Given the description of an element on the screen output the (x, y) to click on. 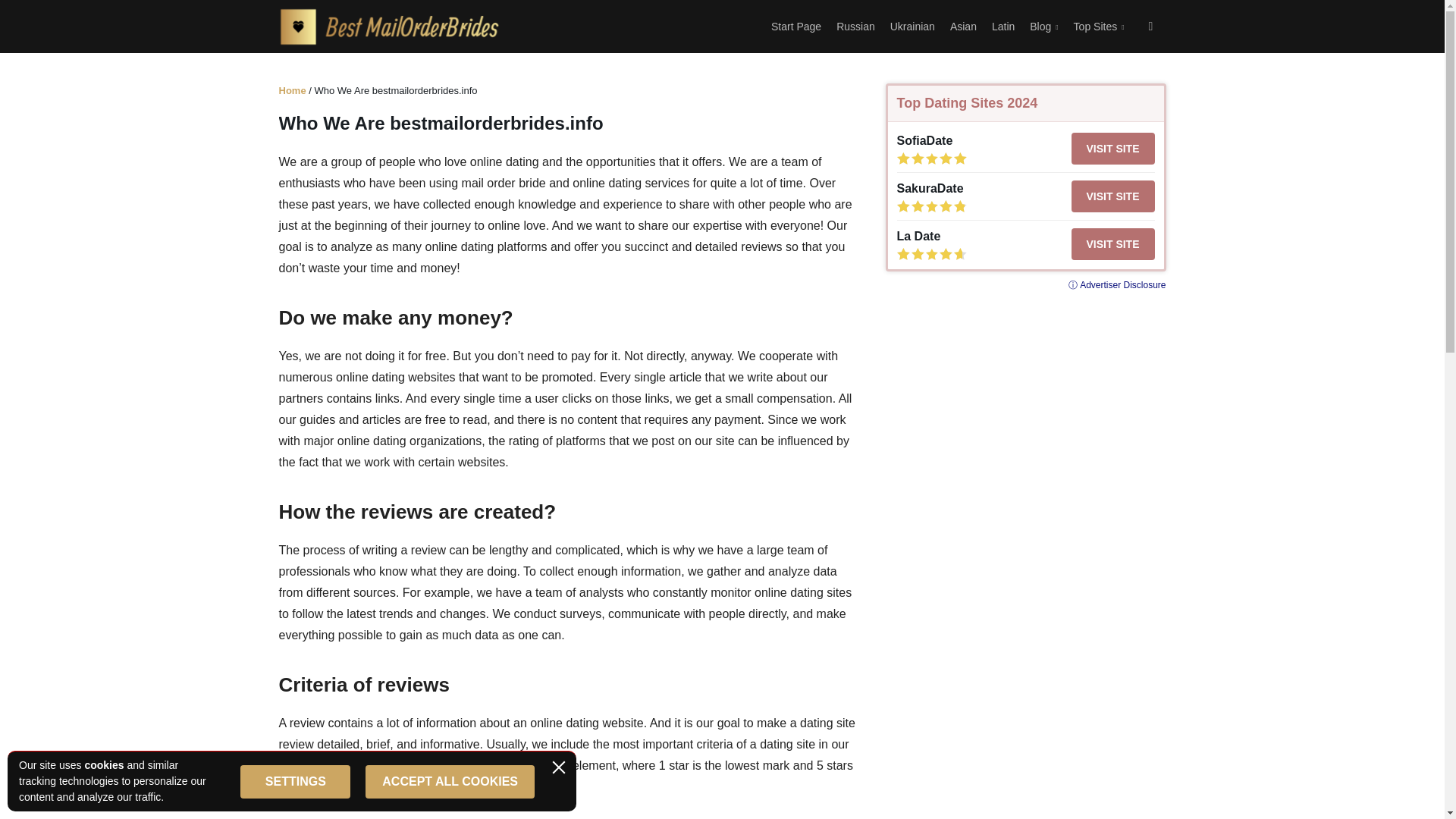
SETTINGS (295, 780)
Russian (855, 26)
BestMailOrderBrides (389, 26)
Home (292, 90)
Start Page (796, 26)
VISIT SITE (1112, 244)
VISIT SITE (1112, 196)
VISIT SITE (1112, 148)
Our Score (931, 205)
Our Score (931, 254)
